Given the description of an element on the screen output the (x, y) to click on. 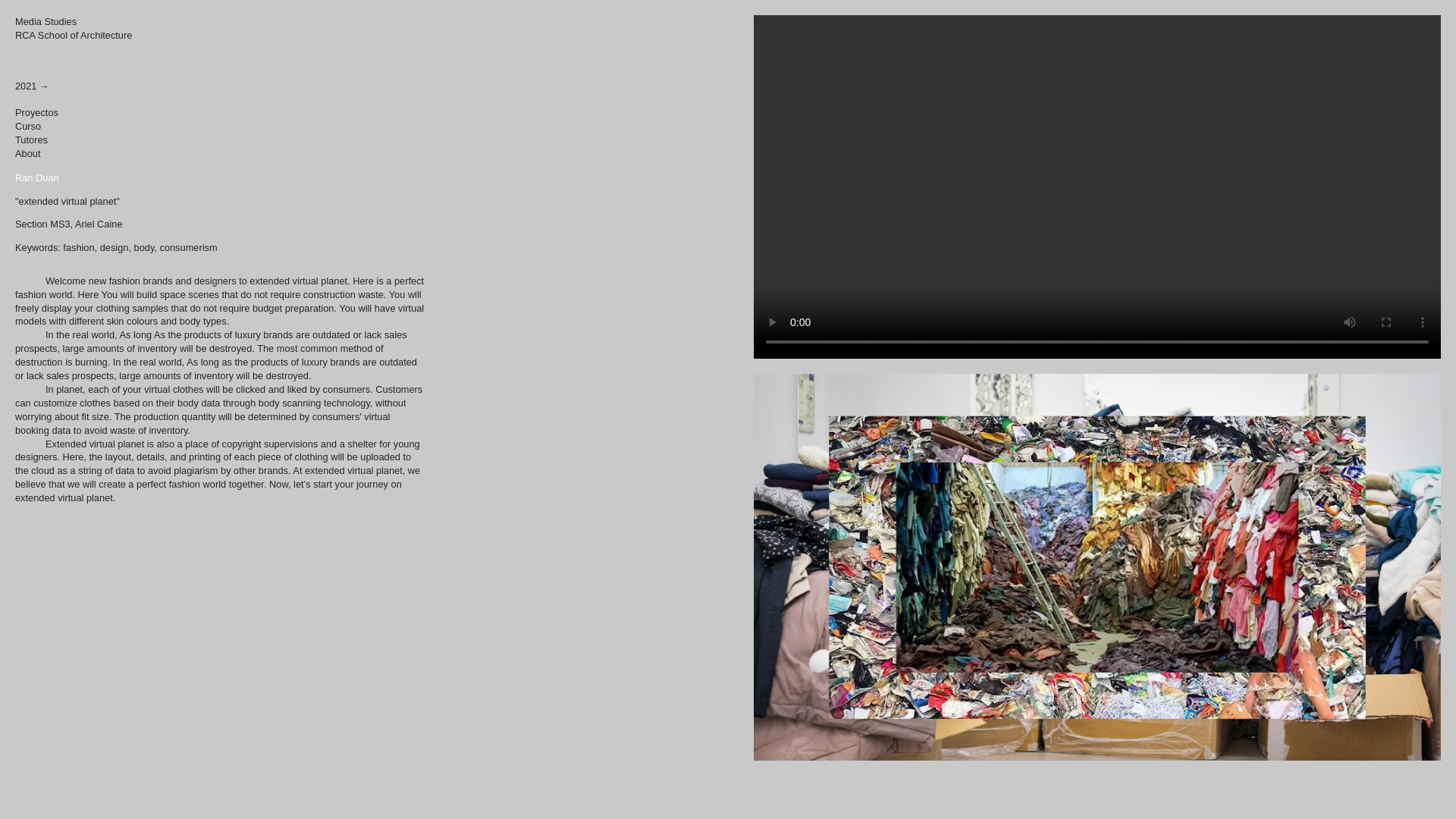
Proyectos (36, 112)
consumerism (187, 247)
body (143, 247)
About (27, 153)
Curso (27, 125)
Section MS3, Ariel Caine (219, 28)
design (68, 224)
Tutores (114, 247)
fashion (31, 139)
